Given the description of an element on the screen output the (x, y) to click on. 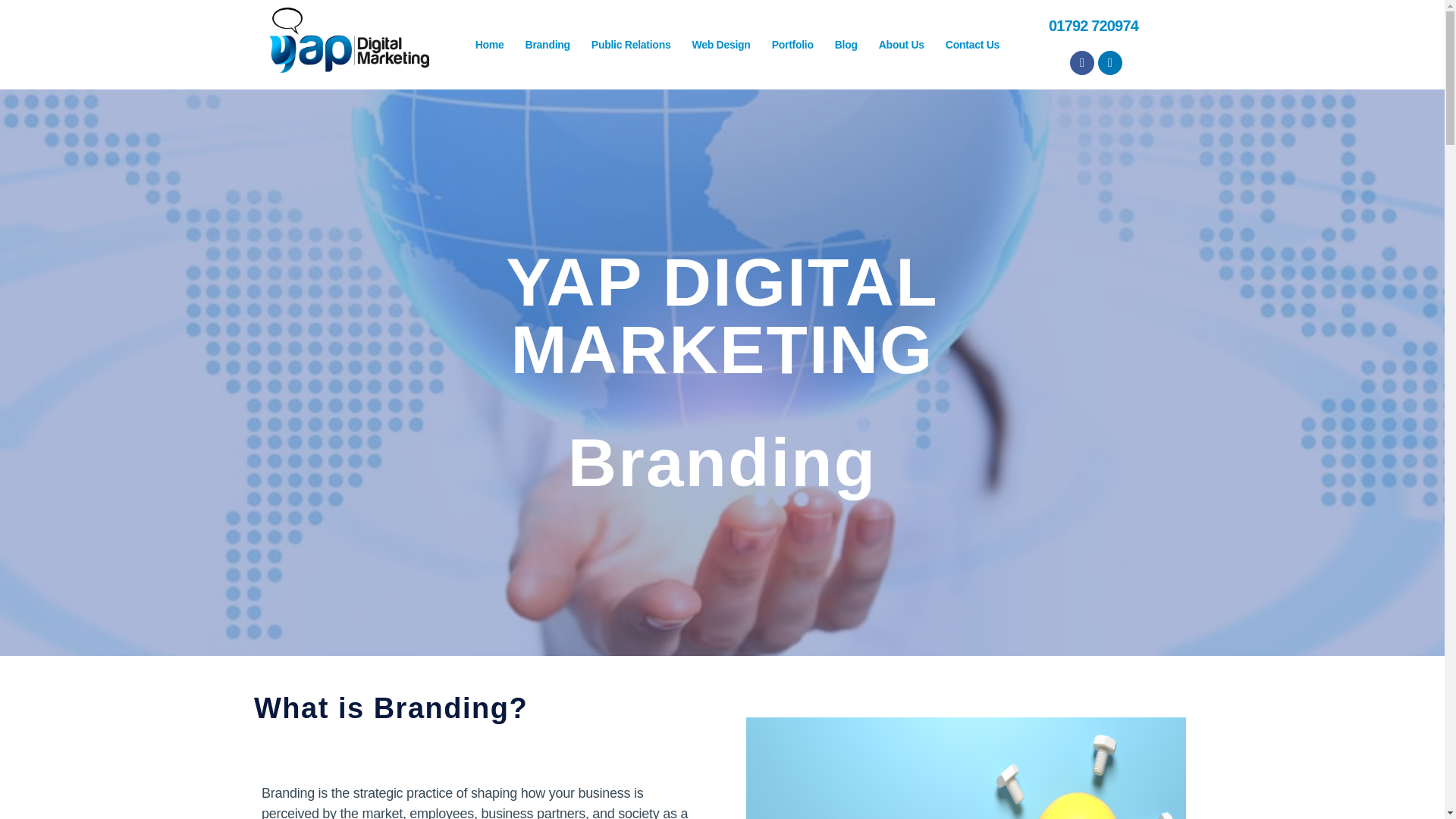
Web Design (720, 44)
About Us (900, 44)
Blog (845, 44)
Public Relations (630, 44)
Home (489, 44)
Portfolio (792, 44)
Branding (547, 44)
Contact Us (972, 44)
01792 720974 (1093, 25)
